Given the description of an element on the screen output the (x, y) to click on. 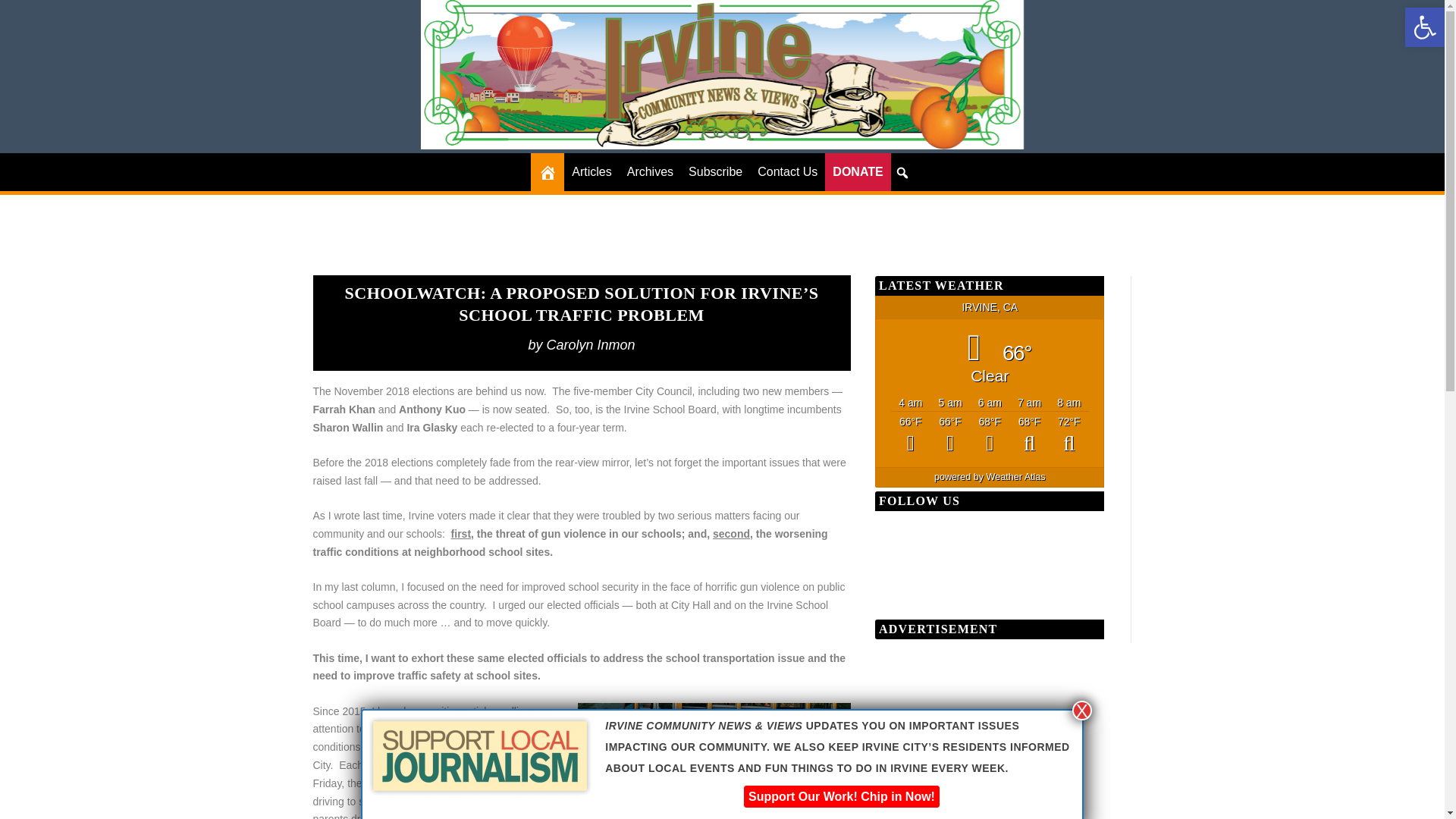
DONATE (857, 171)
Accessibility Tools (1424, 27)
Posts by Carolyn Inmon (590, 344)
Partly Cloudy (1028, 435)
Partly Cloudy (949, 435)
Articles (591, 171)
Carolyn Inmon (590, 344)
Partly Cloudy (989, 435)
Partly Cloudy (1069, 435)
Archives (650, 171)
